Given the description of an element on the screen output the (x, y) to click on. 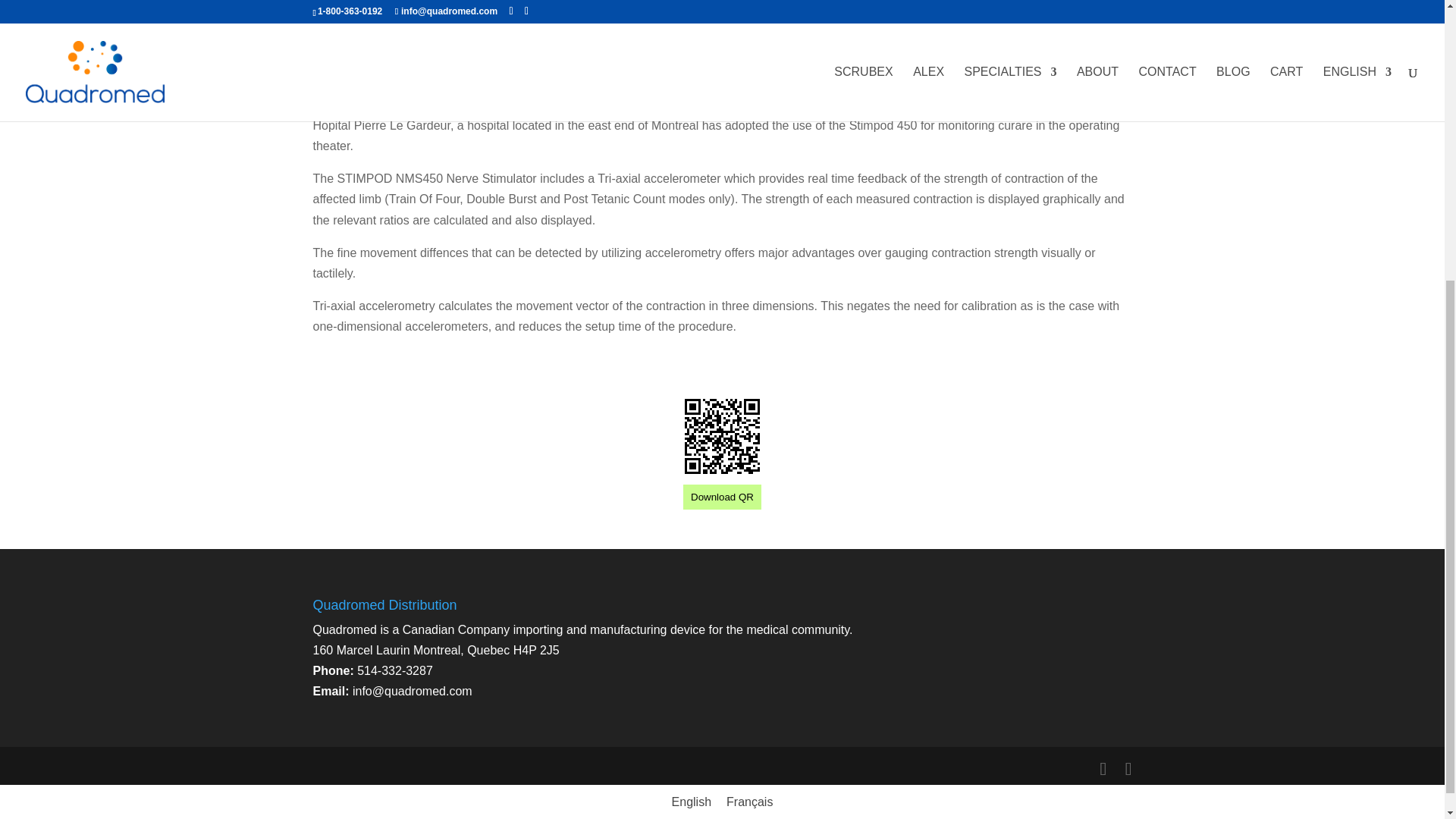
Download QR (721, 495)
Events (406, 78)
English (691, 802)
Download QR (721, 496)
